Given the description of an element on the screen output the (x, y) to click on. 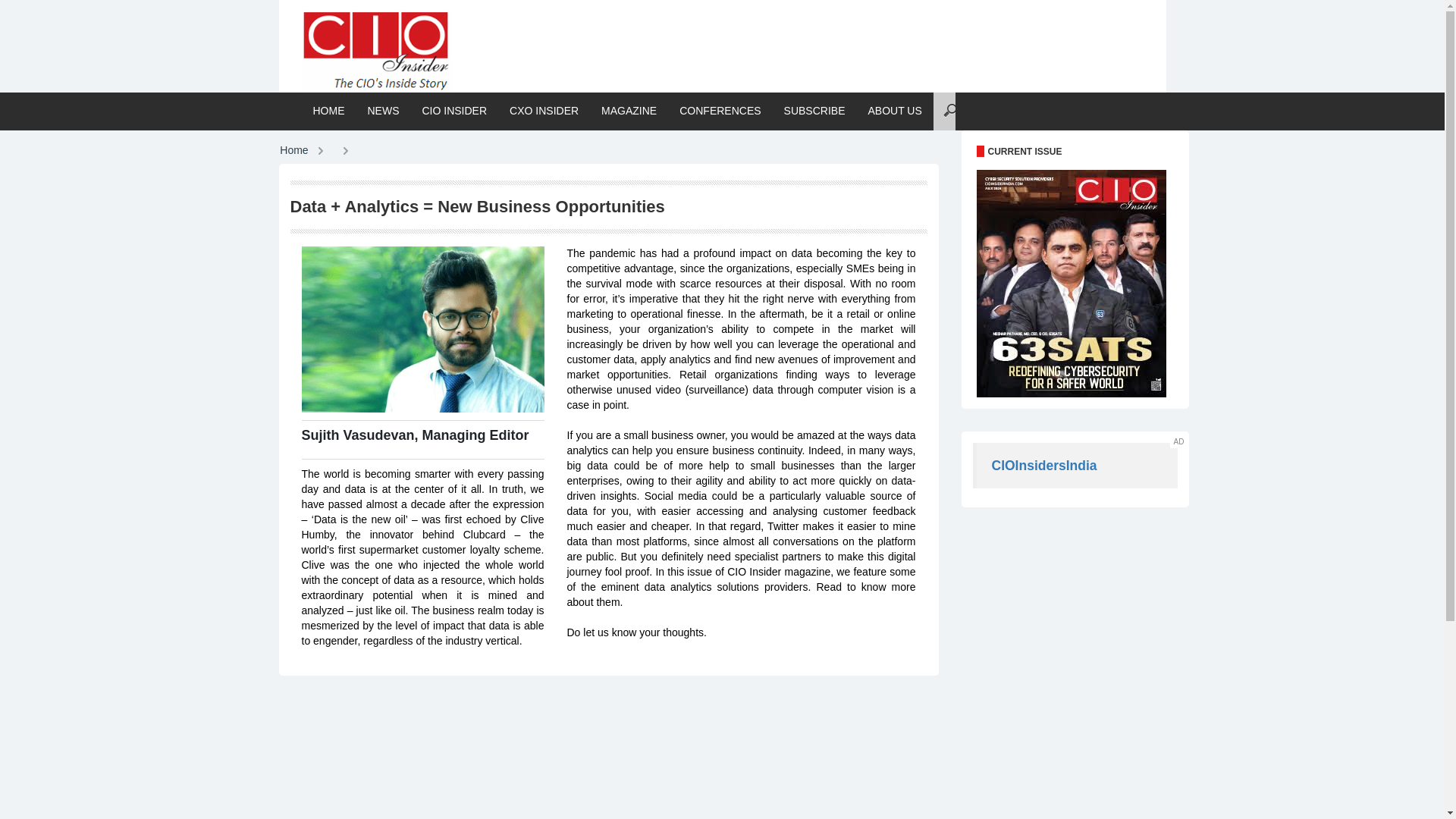
Home (415, 439)
CXO INSIDER (293, 150)
NEWS (543, 111)
Separator (383, 111)
ABOUT US (328, 111)
CIO INSIDER (895, 111)
Sujith Vasudevan, Managing Editor (454, 111)
Separator (422, 329)
3rd party ad content (628, 111)
SUBSCRIBE (788, 41)
CIOInsidersIndia (815, 111)
CONFERENCES (1044, 465)
